Given the description of an element on the screen output the (x, y) to click on. 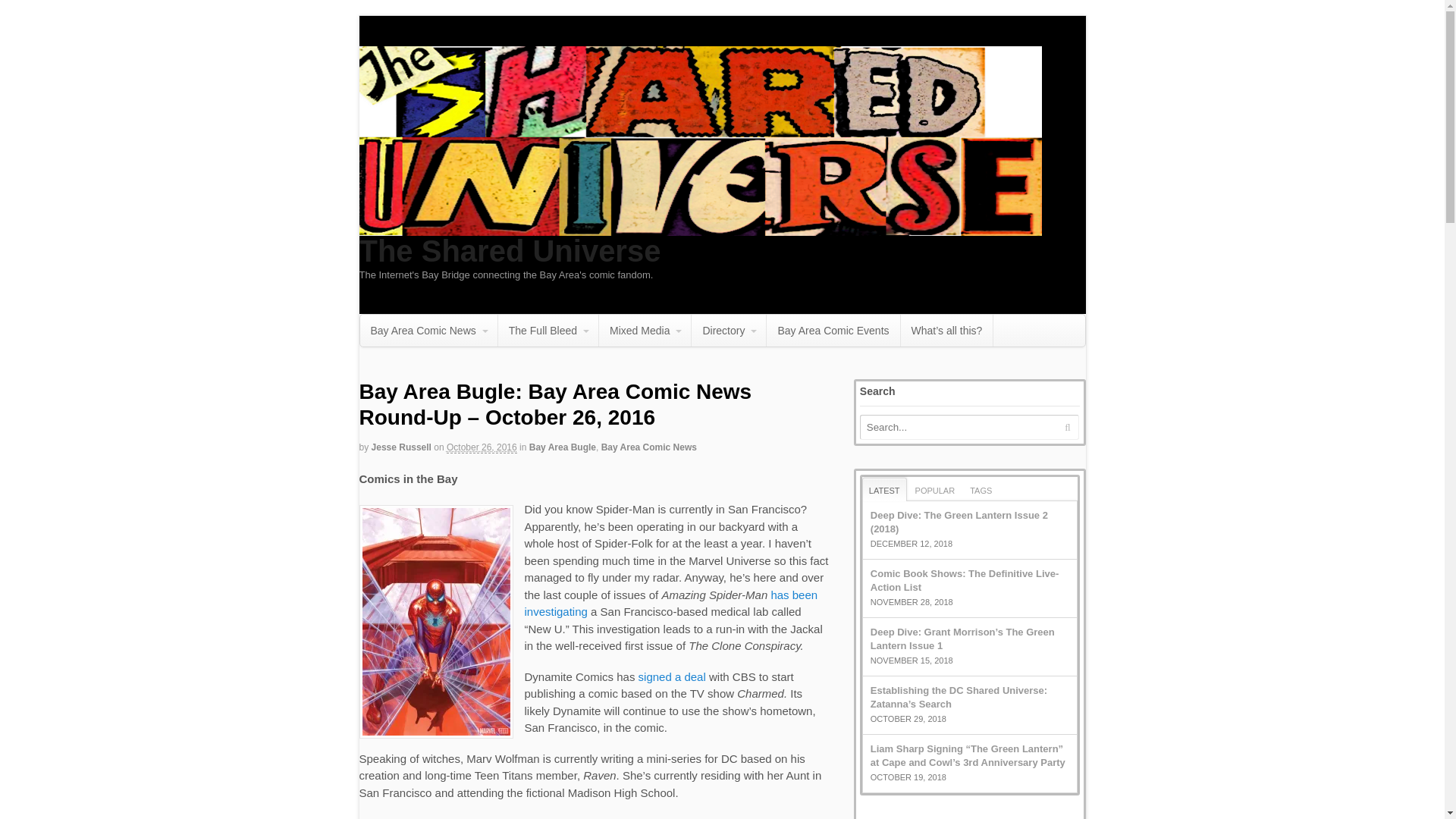
Bay Area Comic News (427, 330)
The Full Bleed (547, 330)
Jesse Russell (400, 447)
Directory (728, 330)
Bay Area Comic Events (833, 330)
signed a deal (672, 676)
has been investigating (671, 603)
2016-10-26T07:01:03-0800 (481, 447)
The Shared Universe (510, 250)
Mixed Media (644, 330)
Posts by Jesse Russell (400, 447)
Search... (959, 426)
Bay Area Bugle (562, 447)
Bay Area Comic News (649, 447)
